Given the description of an element on the screen output the (x, y) to click on. 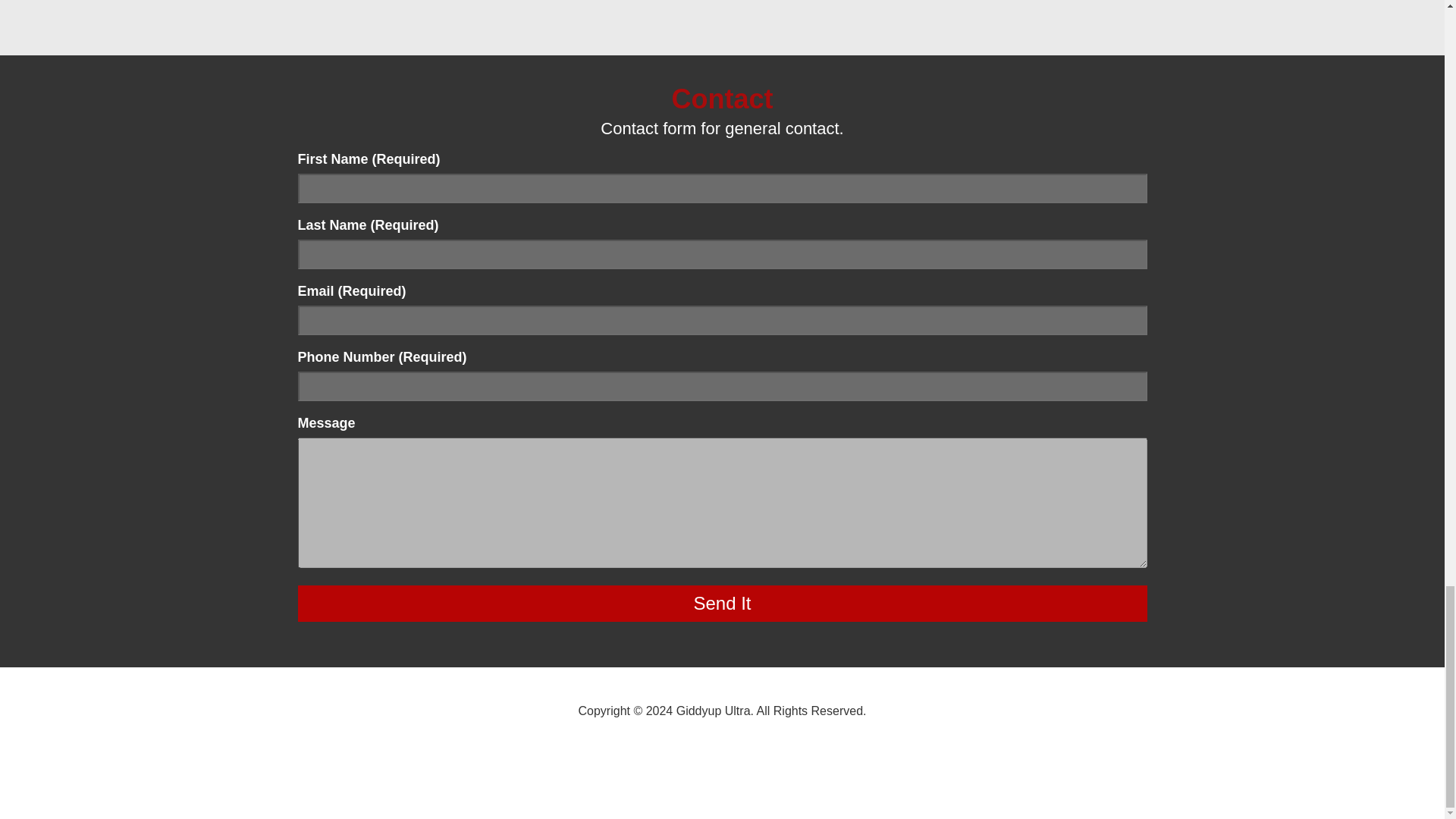
Send It (722, 603)
Send It (722, 603)
